Given the description of an element on the screen output the (x, y) to click on. 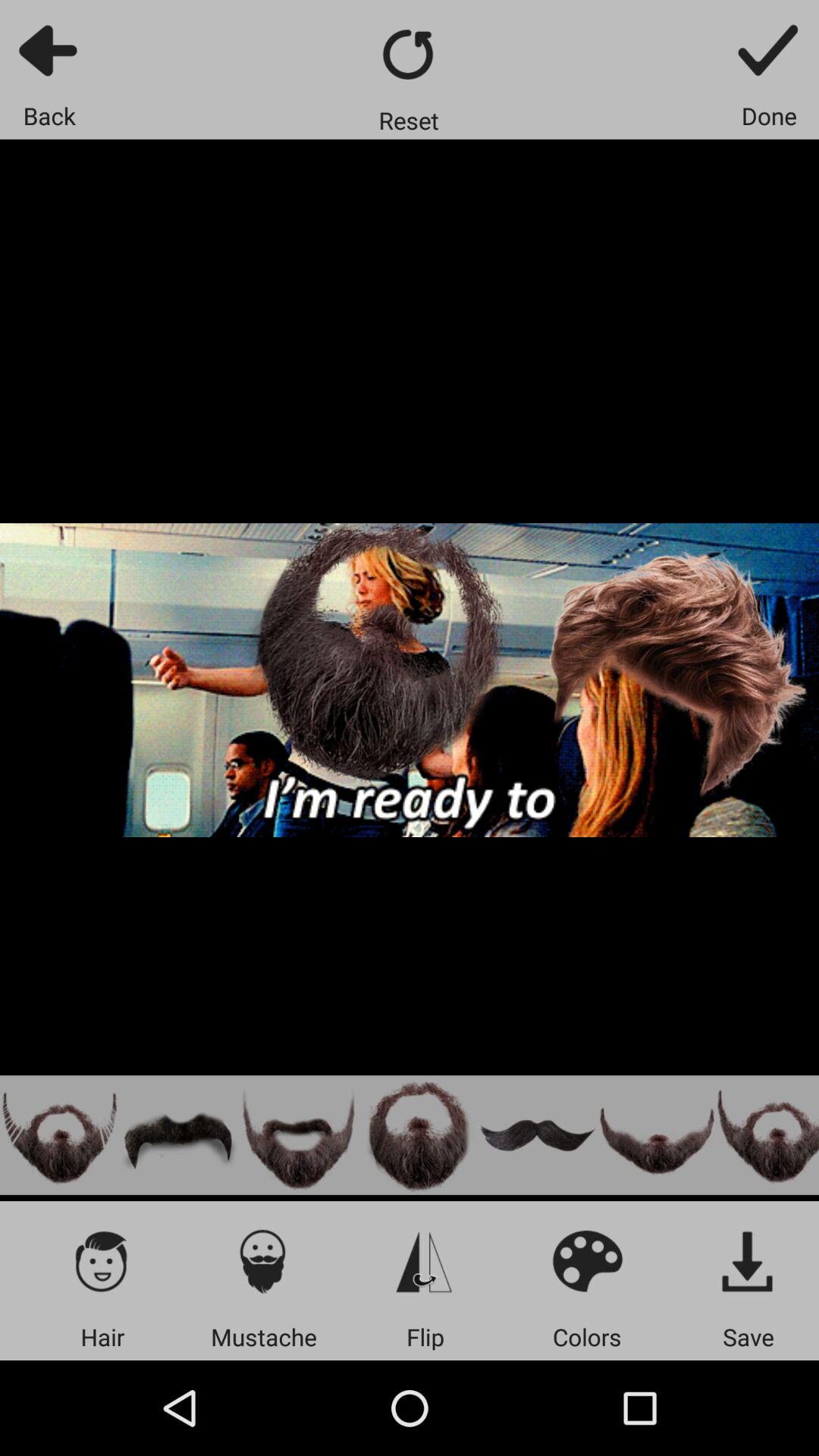
go to reset (408, 54)
